Given the description of an element on the screen output the (x, y) to click on. 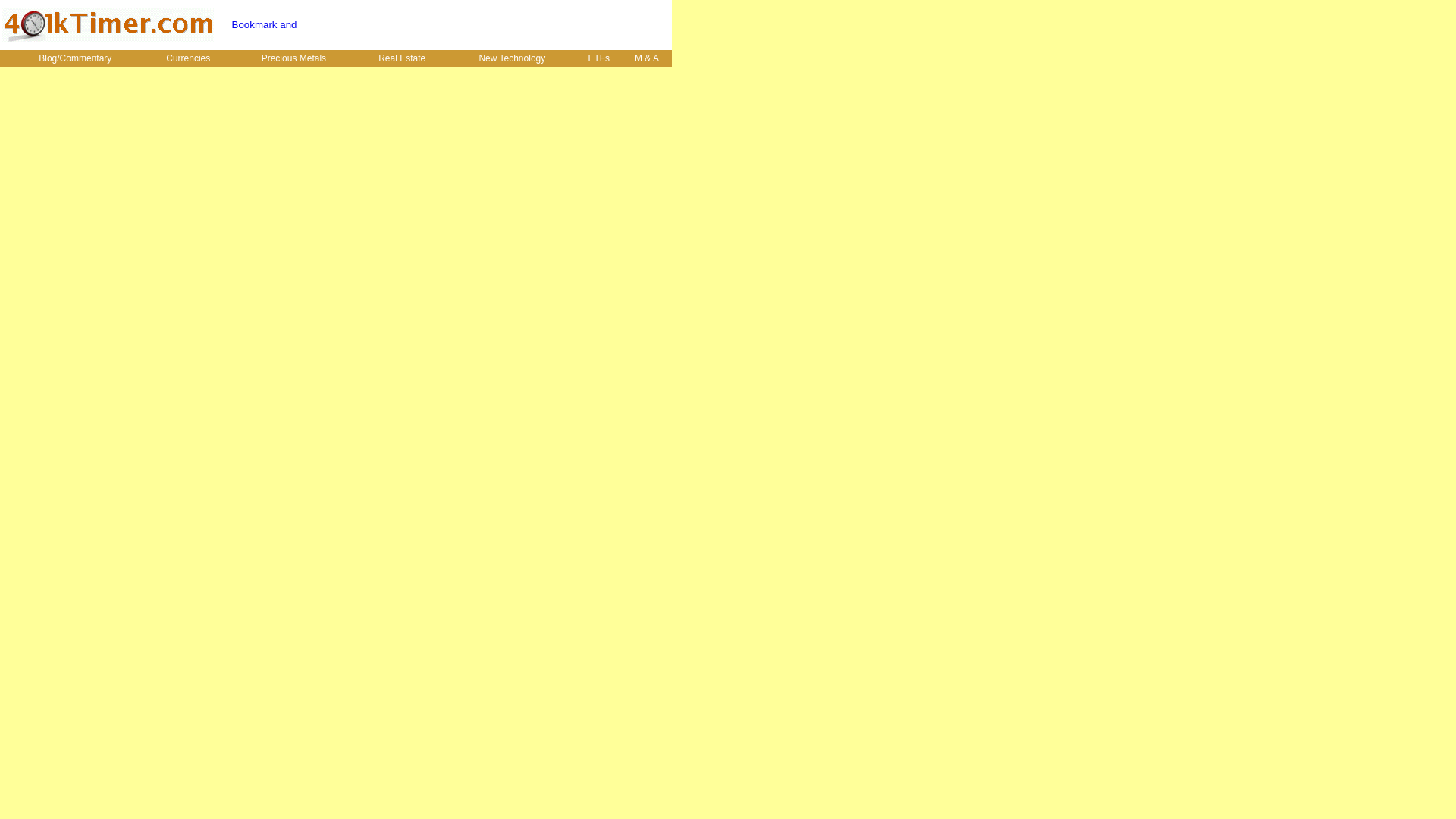
M & A Element type: text (646, 58)
Advertisement Element type: hover (491, 24)
New Technology Element type: text (511, 58)
Blog/Commentary Element type: text (74, 58)
Precious Metals Element type: text (293, 58)
ETFs Element type: text (598, 58)
Currencies Element type: text (187, 58)
Real Estate Element type: text (401, 58)
